Given the description of an element on the screen output the (x, y) to click on. 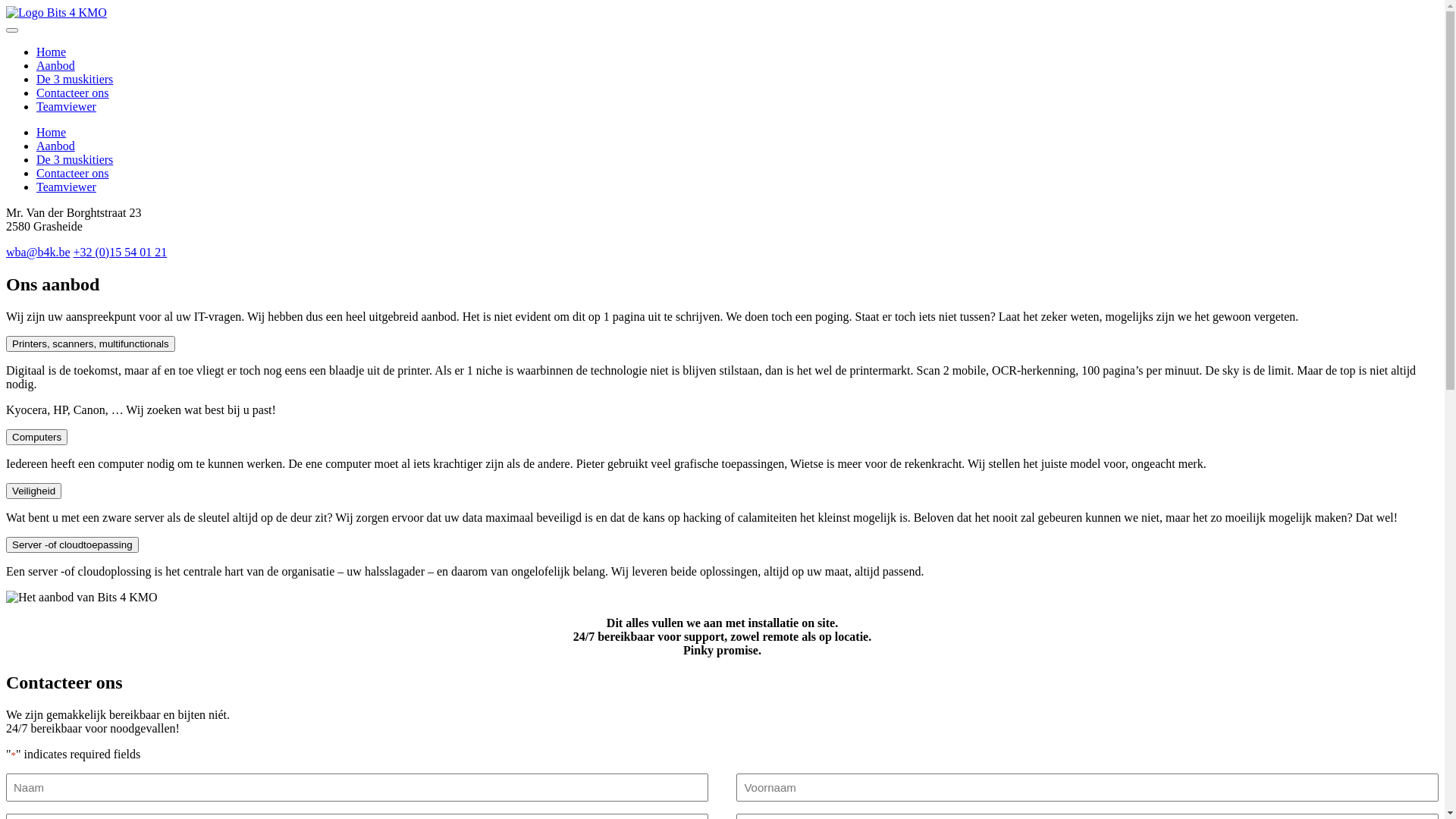
Aanbod Element type: text (55, 145)
+32 (0)15 54 01 21 Element type: text (119, 251)
Contacteer ons Element type: text (72, 92)
wba@b4k.be Element type: text (38, 251)
Teamviewer Element type: text (66, 106)
Contacteer ons Element type: text (72, 172)
Aanbod Element type: text (55, 65)
Computers Element type: text (36, 437)
Server -of cloudtoepassing Element type: text (72, 544)
De 3 muskitiers Element type: text (74, 78)
Printers, scanners, multifunctionals Element type: text (90, 343)
Teamviewer Element type: text (66, 186)
Veiligheid Element type: text (33, 490)
Home Element type: text (50, 131)
De 3 muskitiers Element type: text (74, 159)
Home Element type: text (50, 51)
